Given the description of an element on the screen output the (x, y) to click on. 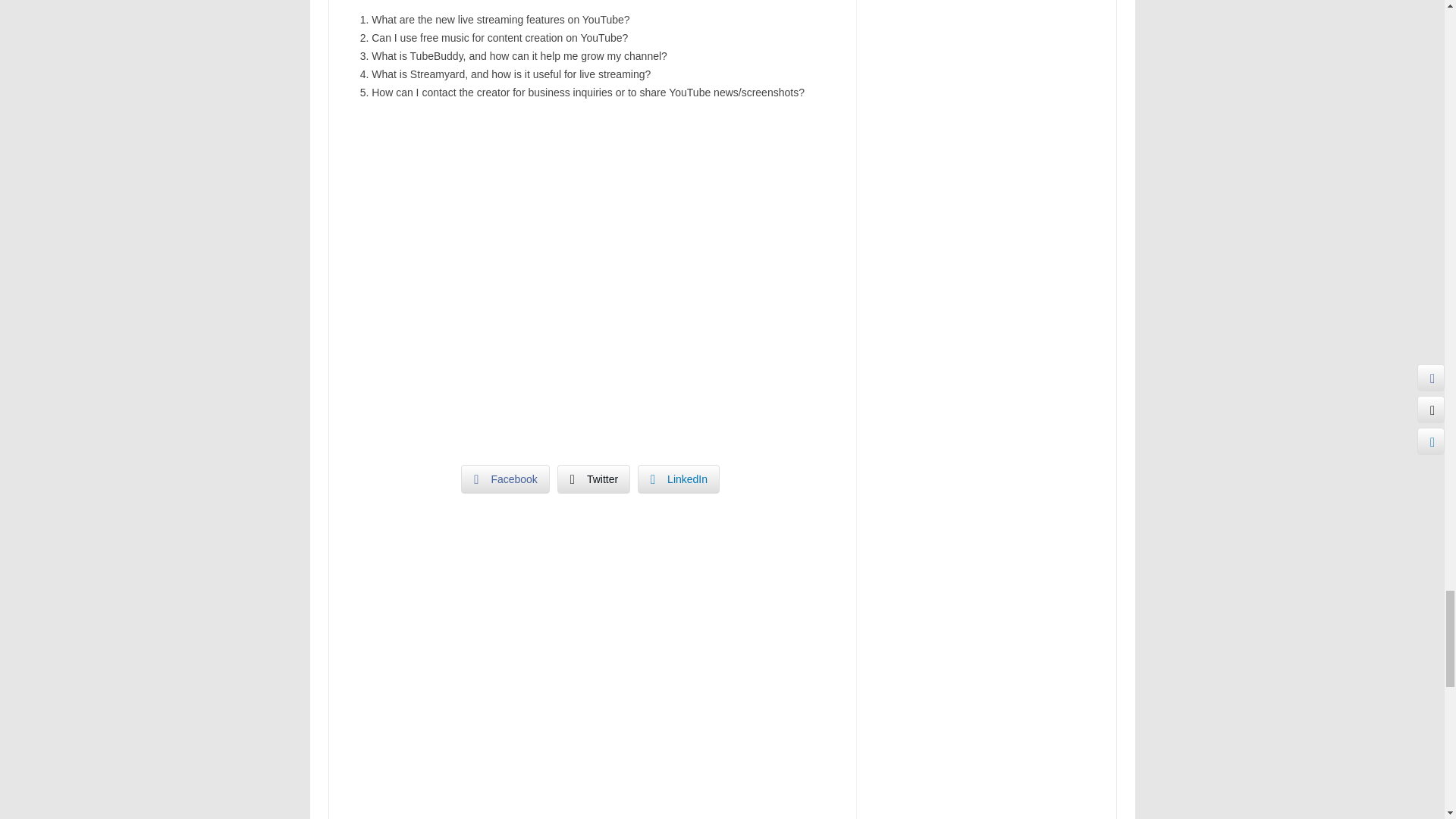
Twitter (593, 479)
Facebook (504, 479)
LinkedIn (678, 479)
